Given the description of an element on the screen output the (x, y) to click on. 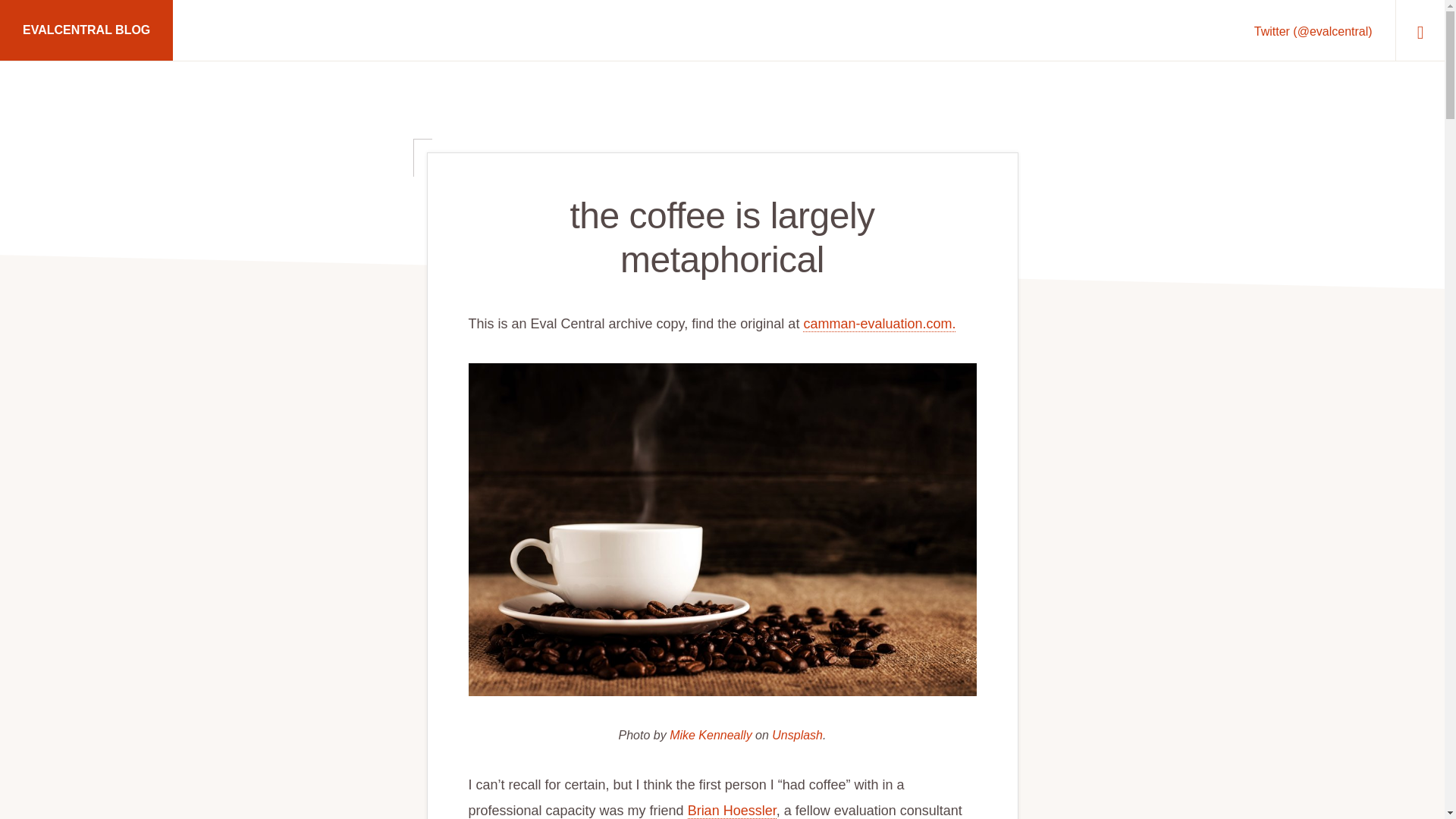
Mike Kenneally (710, 735)
Unsplash (796, 735)
Brian Hoessler (731, 811)
EVALCENTRAL BLOG (86, 30)
Freshspectrum.com (592, 753)
camman-evaluation.com. (879, 324)
